Given the description of an element on the screen output the (x, y) to click on. 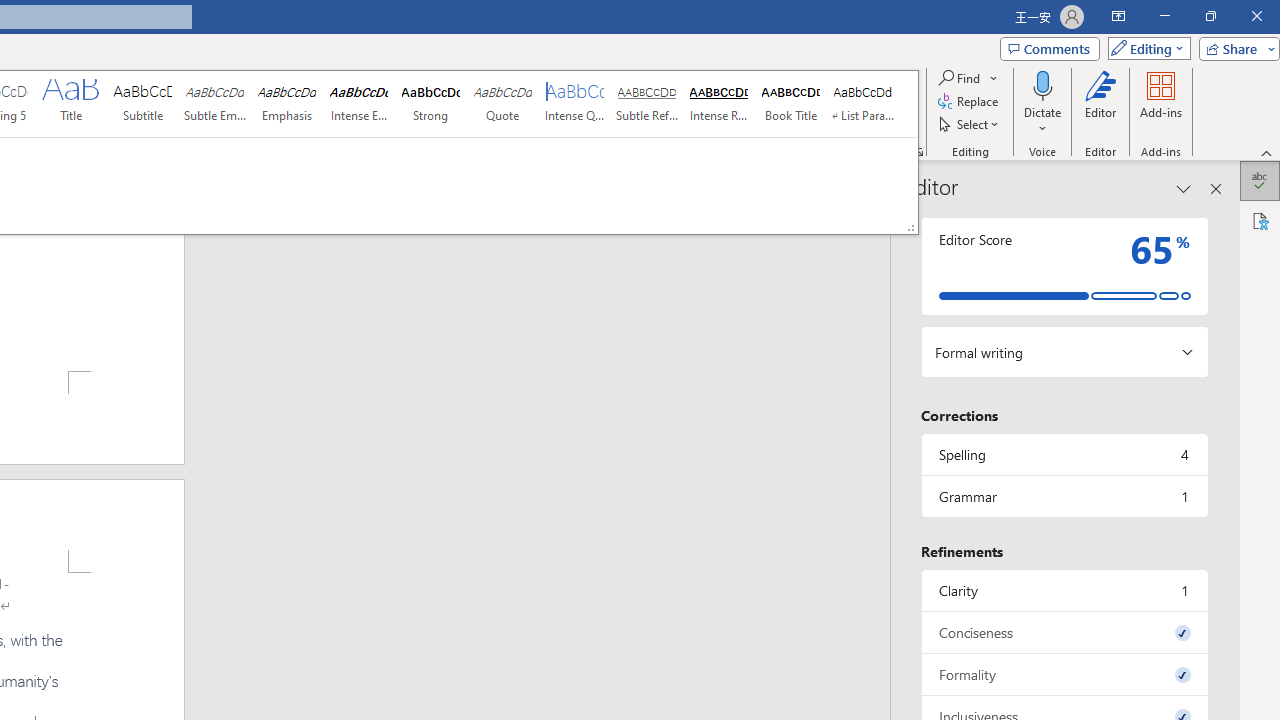
Spelling, 4 issues. Press space or enter to review items. (1064, 454)
Clarity, 1 issue. Press space or enter to review items. (1064, 590)
Editing (1144, 47)
